Given the description of an element on the screen output the (x, y) to click on. 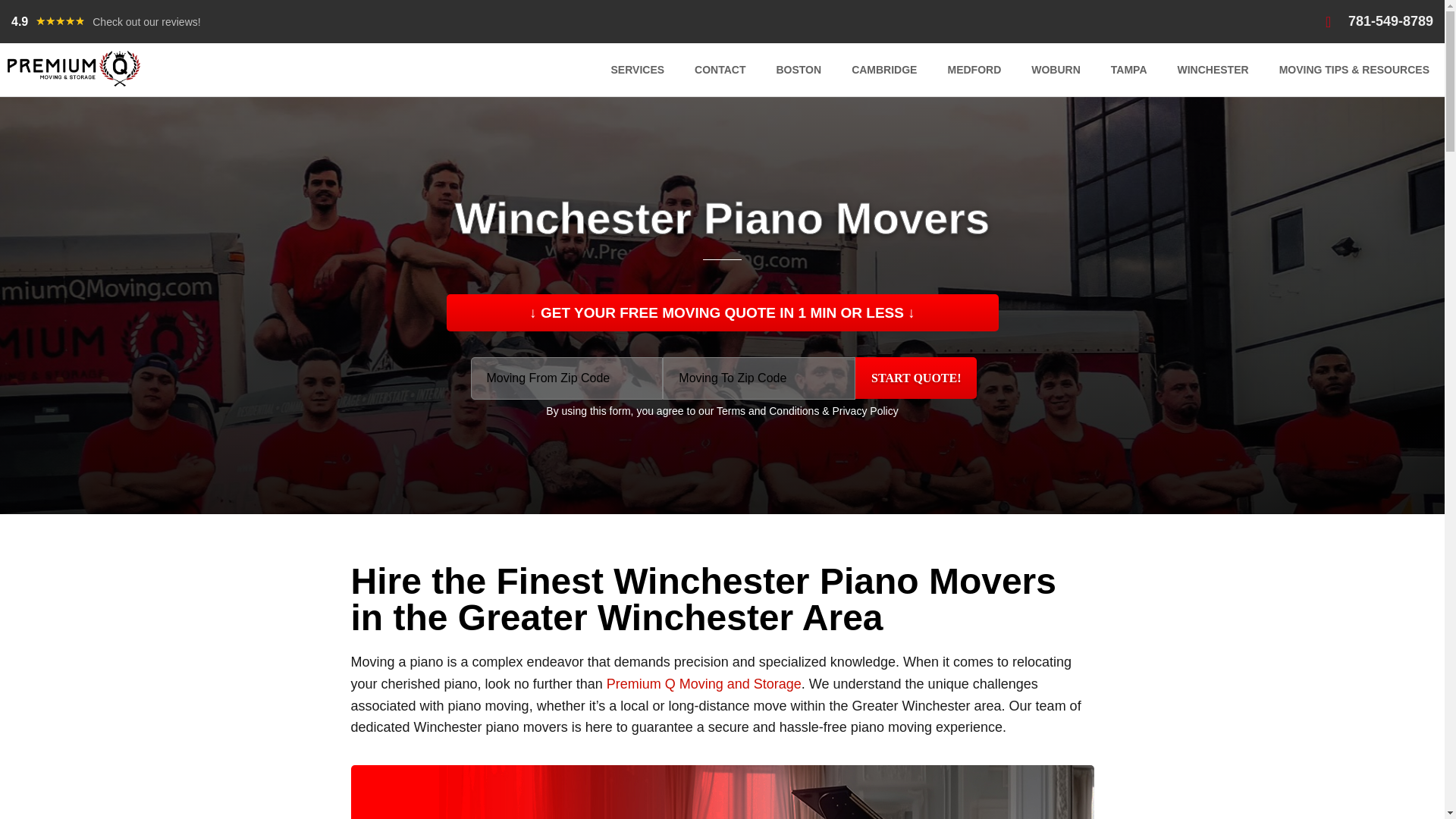
4.9 (19, 21)
Winchester Piano Movers 1 (721, 791)
BOSTON (797, 69)
781-549-8789 (1378, 21)
Check out our reviews! (146, 21)
SERVICES (637, 69)
CONTACT (719, 69)
